Given the description of an element on the screen output the (x, y) to click on. 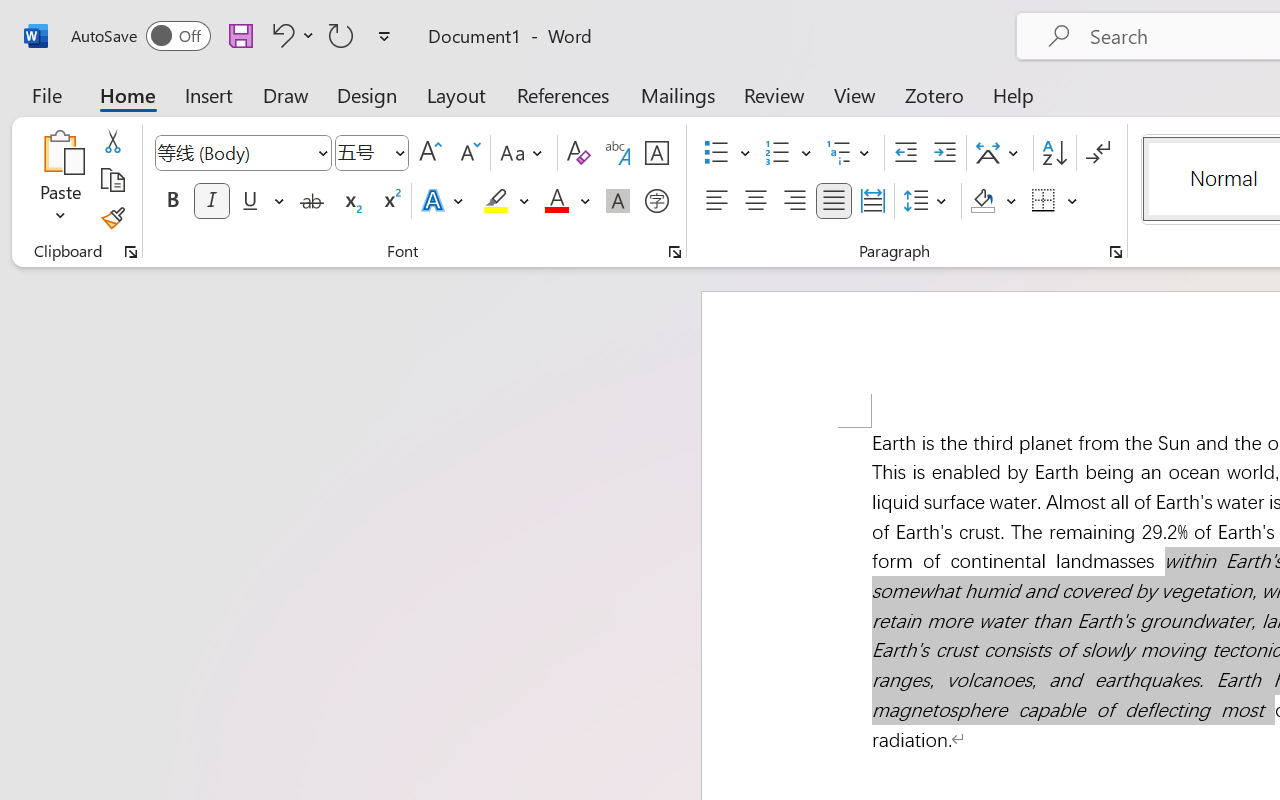
Copy (112, 179)
Shading (993, 201)
Show/Hide Editing Marks (1098, 153)
Asian Layout (1000, 153)
Distributed (872, 201)
Change Case (524, 153)
Grow Font (430, 153)
Multilevel List (850, 153)
